Given the description of an element on the screen output the (x, y) to click on. 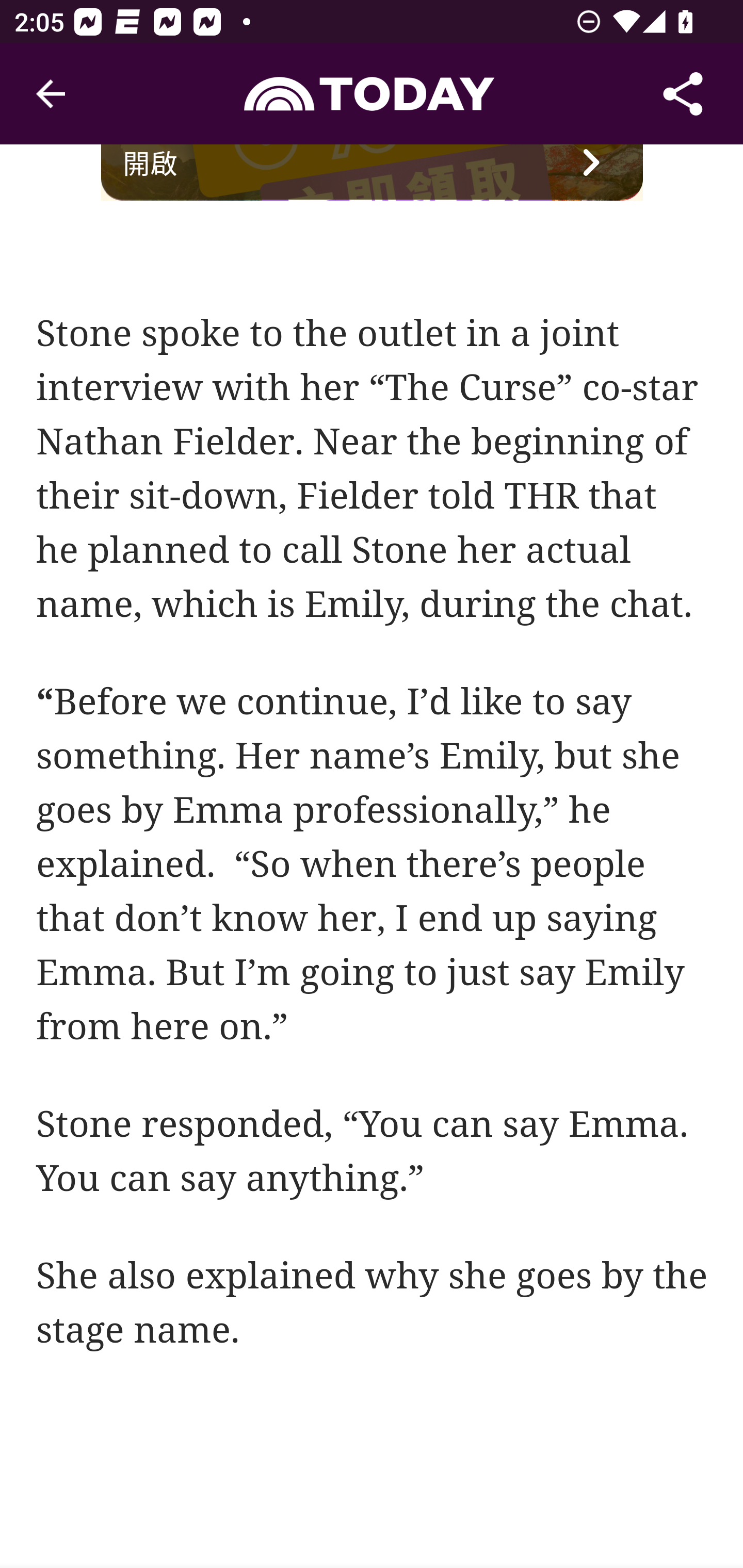
Navigate up (50, 93)
Share Article, button (683, 94)
Header, Today (371, 93)
